Given the description of an element on the screen output the (x, y) to click on. 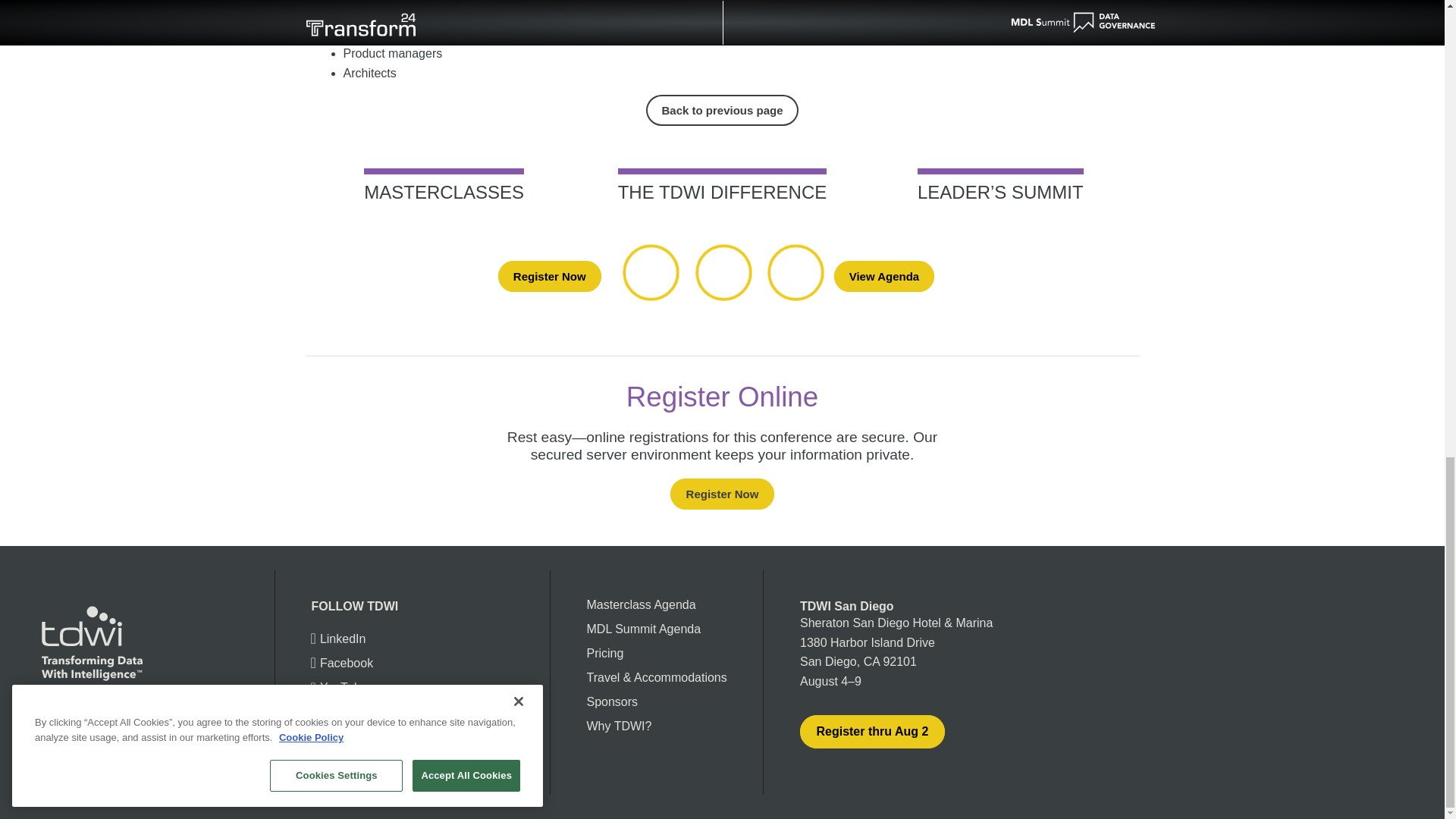
THE TDWI DIFFERENCE (722, 184)
Back to previous page (721, 110)
MASTERCLASSES (444, 184)
